Given the description of an element on the screen output the (x, y) to click on. 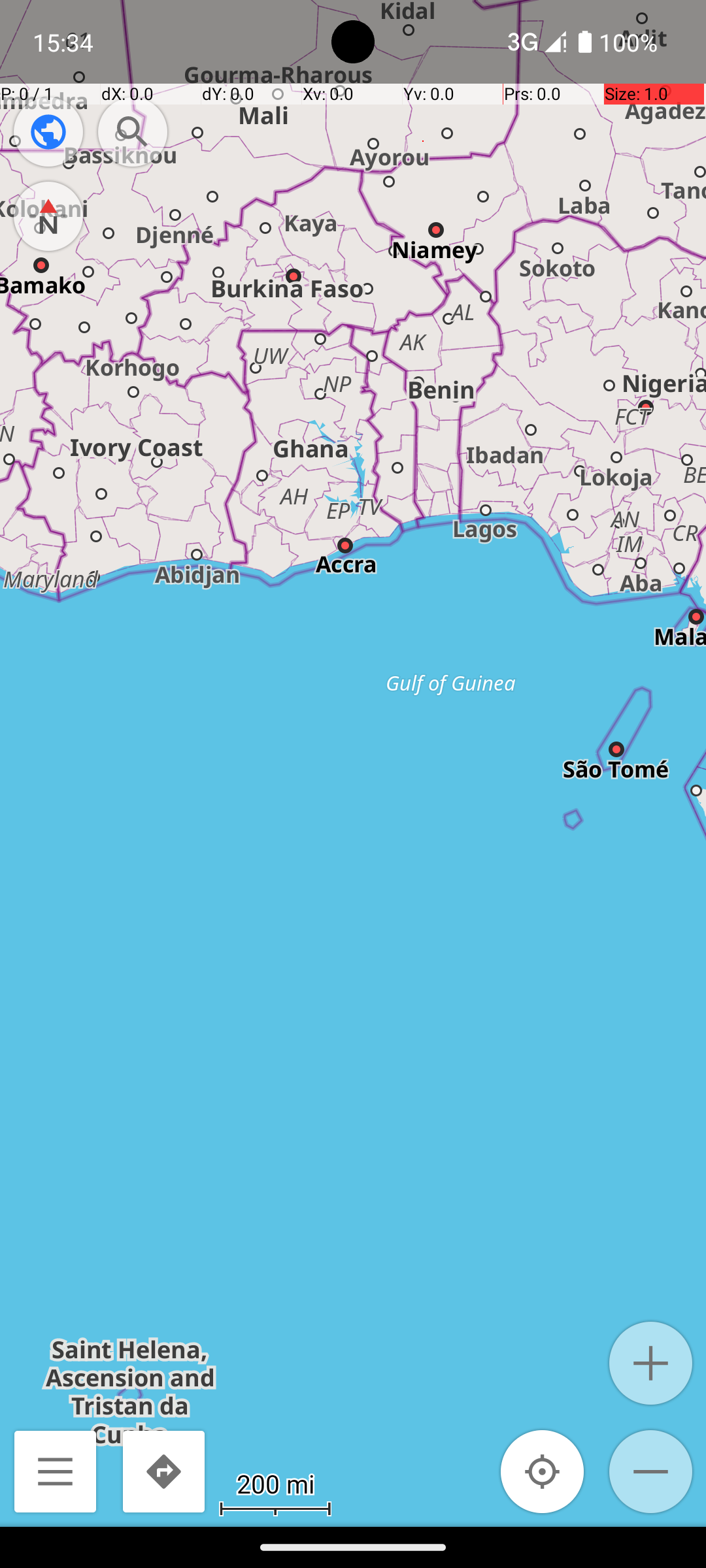
North is up Element type: android.widget.ImageButton (48, 216)
200 mi Element type: android.widget.TextView (274, 1483)
